Given the description of an element on the screen output the (x, y) to click on. 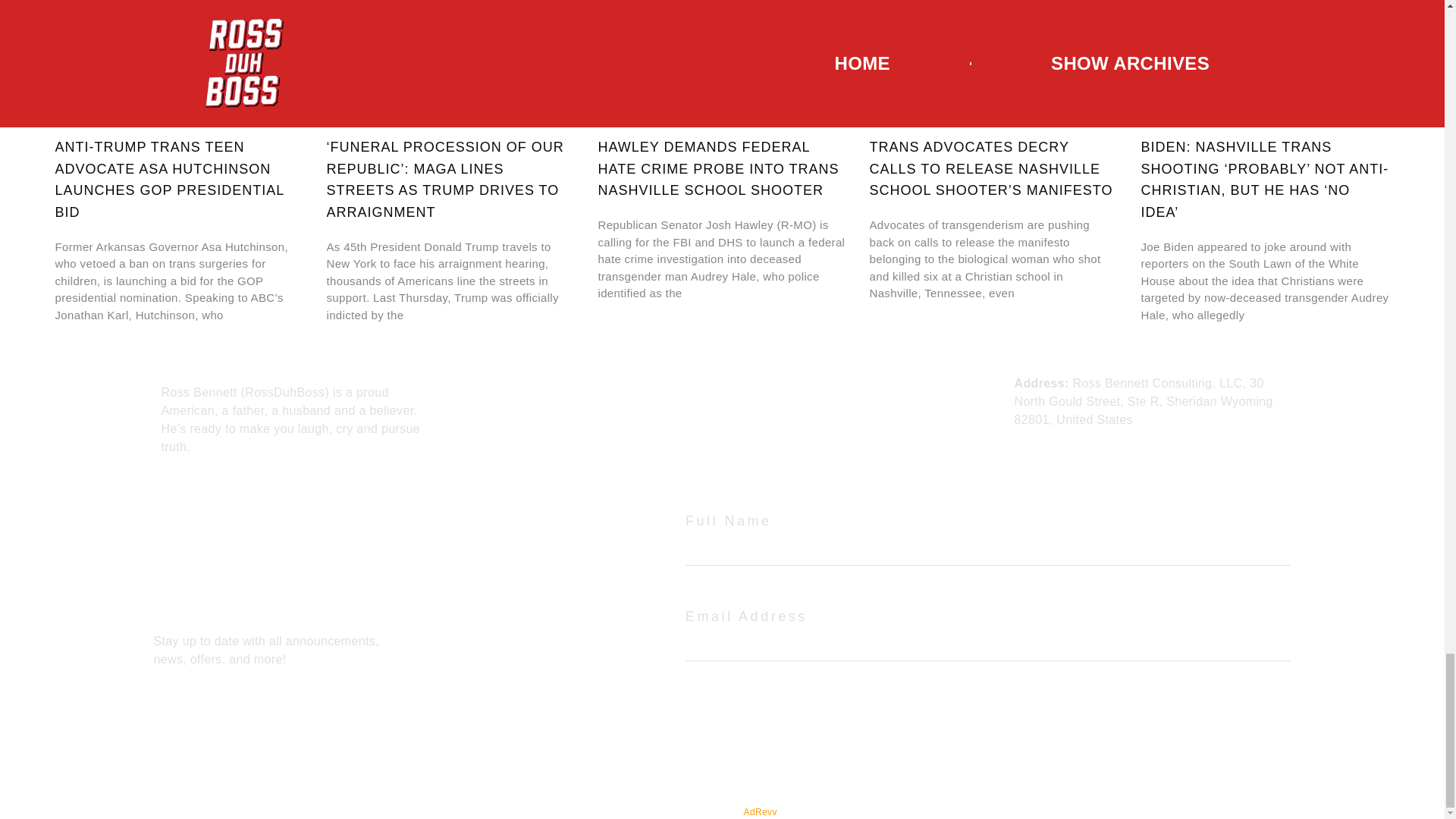
Refund policy (767, 412)
Terms of Service (776, 382)
Show Archives (554, 400)
AdRevv (760, 811)
Shipping and Return (787, 440)
Home (530, 382)
SUBSCRIBE (987, 724)
